Given the description of an element on the screen output the (x, y) to click on. 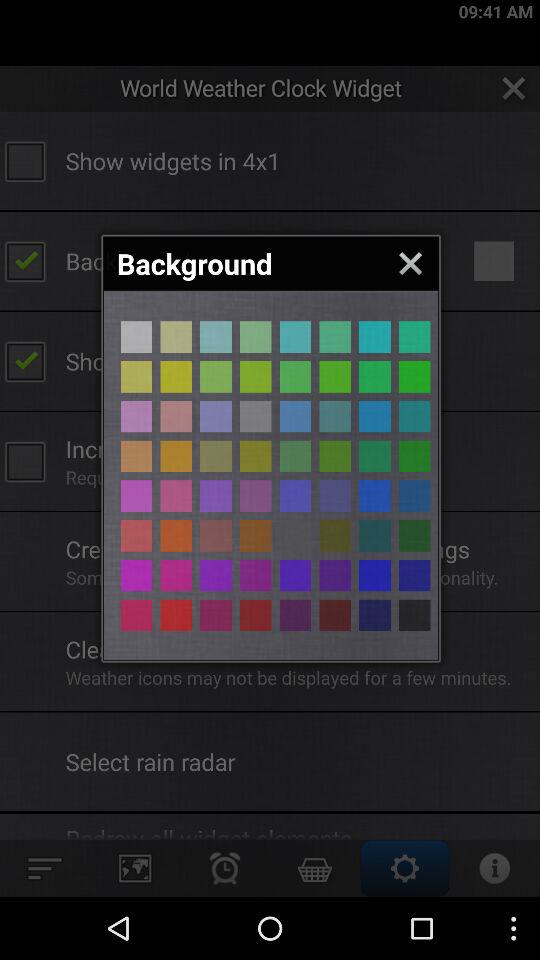
background color (136, 456)
